Given the description of an element on the screen output the (x, y) to click on. 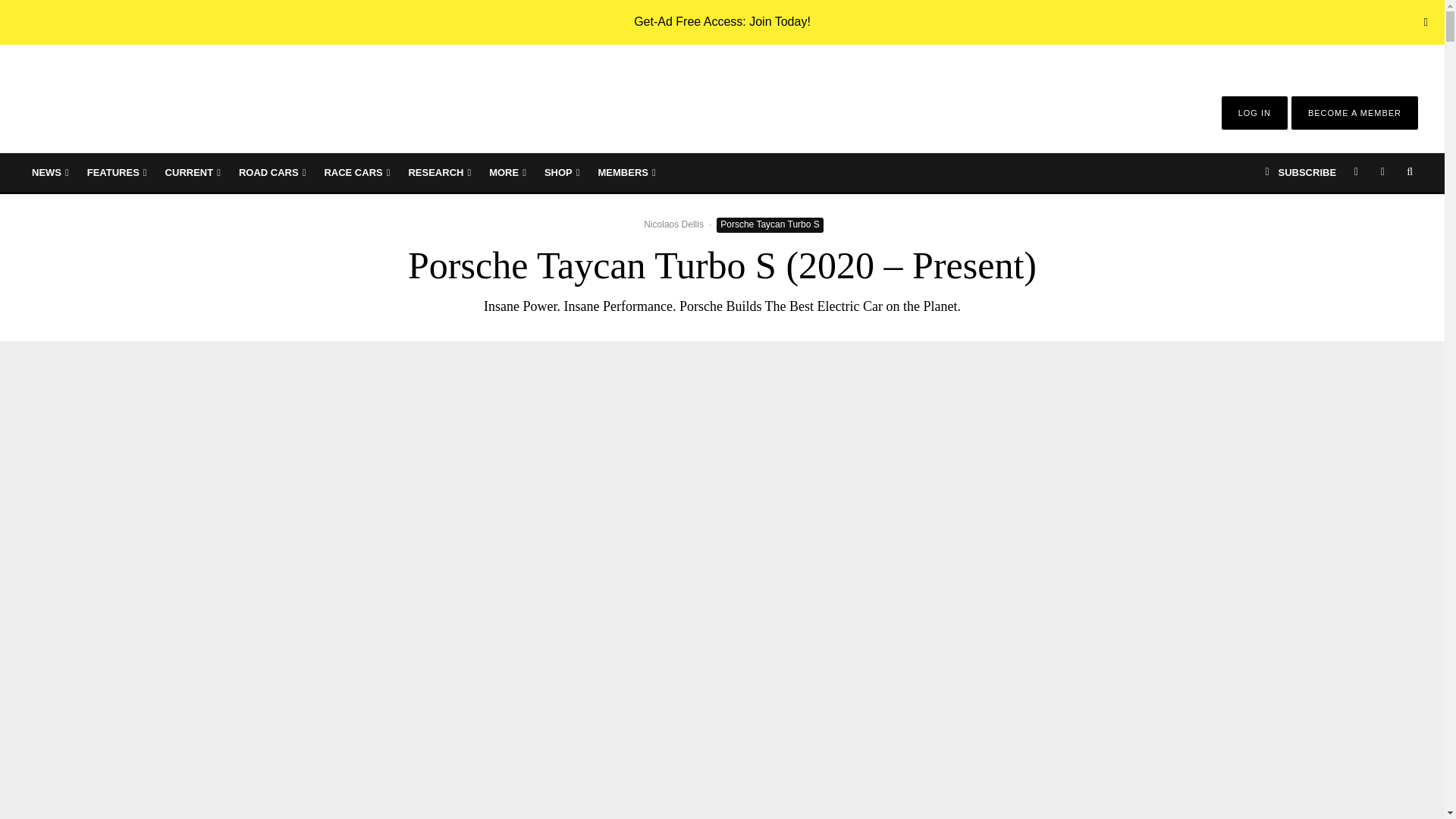
FEATURES (116, 172)
ROAD CARS (272, 172)
Get-Ad Free Access: Join Today! (721, 21)
Get-Ad Free Access: Join Today! (721, 21)
LOG IN (1255, 112)
BECOME A MEMBER (1353, 112)
NEWS (50, 172)
CURRENT (192, 172)
